Given the description of an element on the screen output the (x, y) to click on. 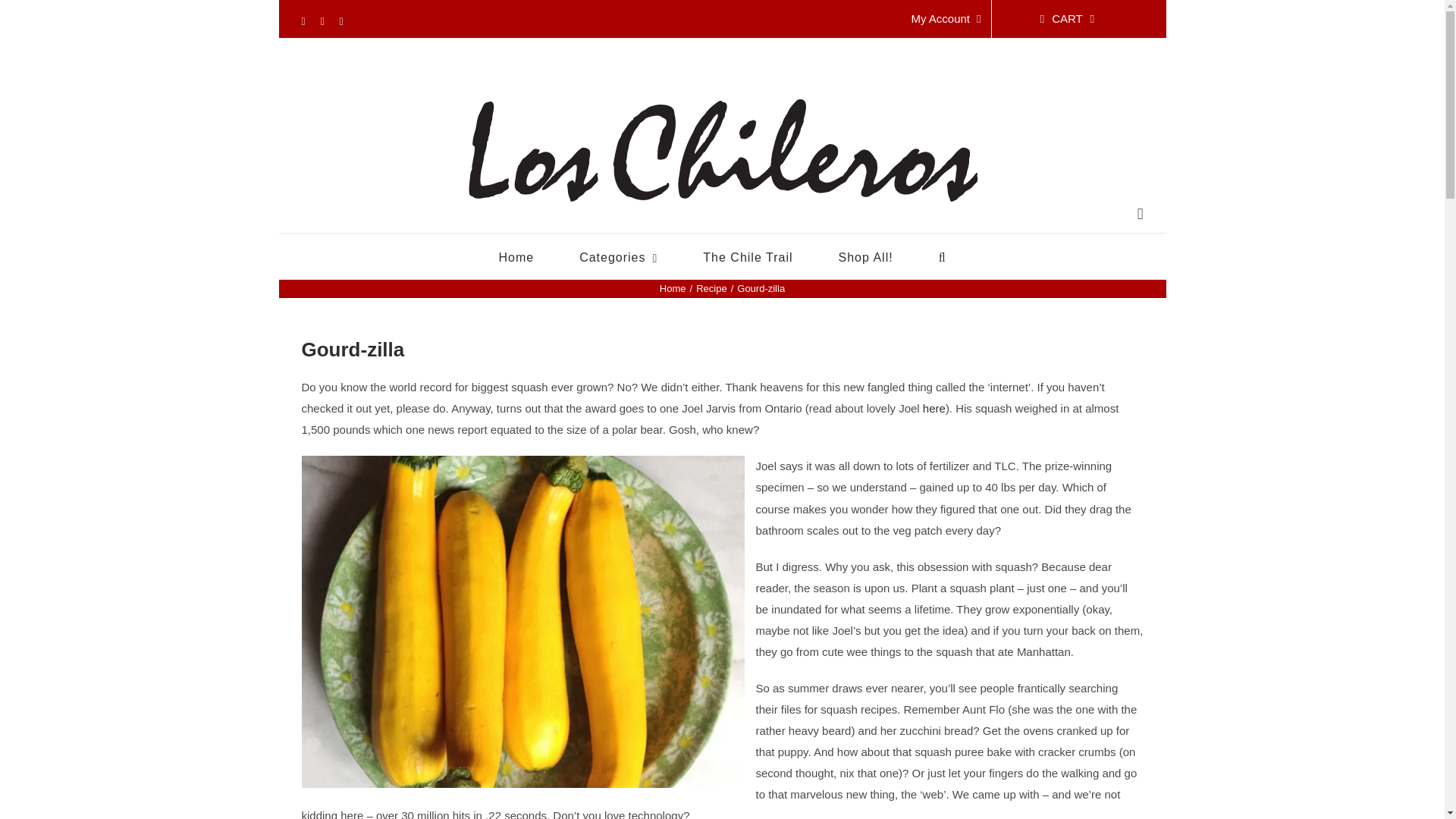
My Account (945, 18)
Shop All! (865, 256)
here (933, 408)
Recipe (710, 288)
Categories (618, 256)
Log In (1003, 162)
The Chile Trail (747, 256)
Home (672, 288)
CART (1066, 18)
